Given the description of an element on the screen output the (x, y) to click on. 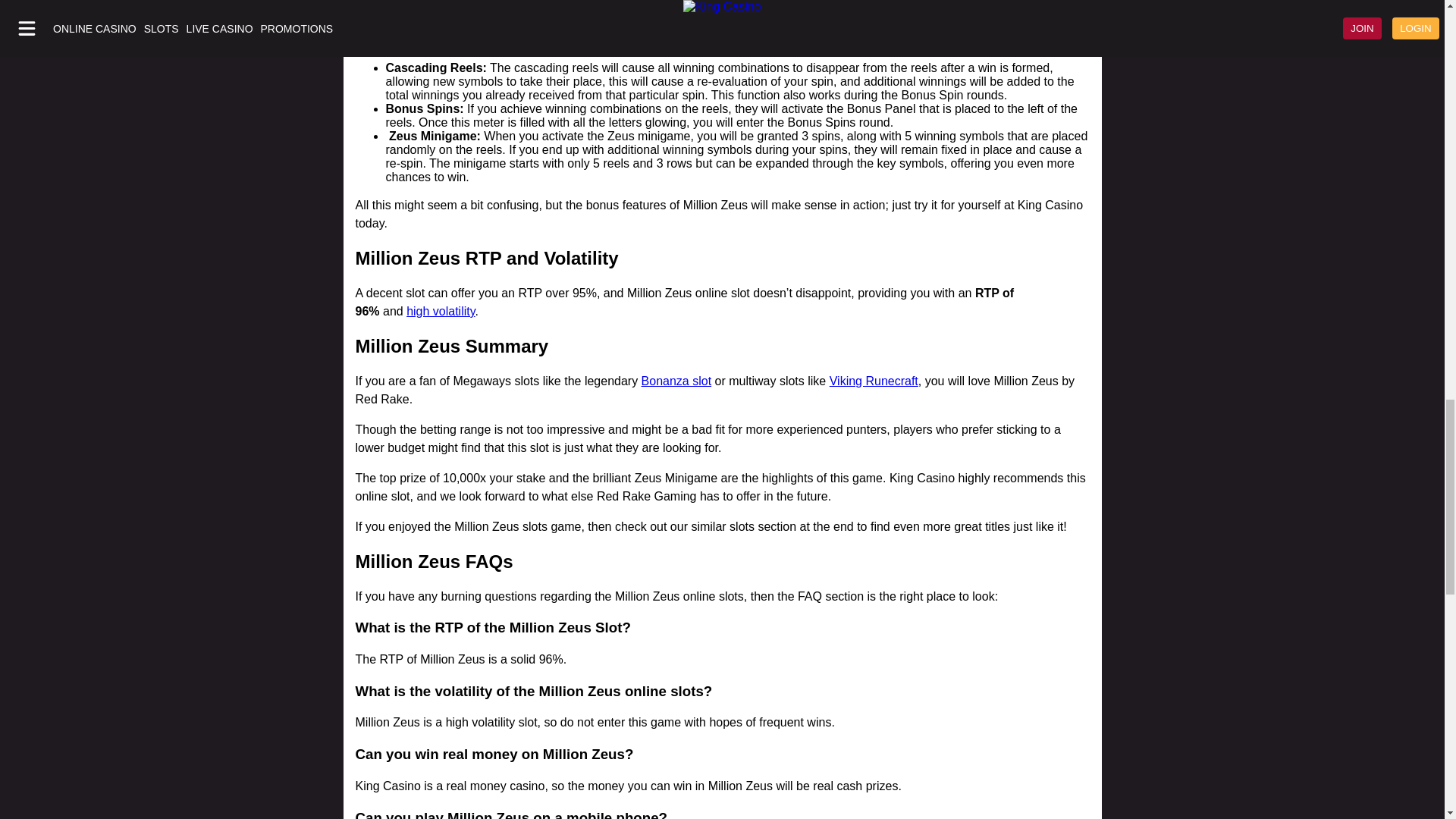
high volatility (440, 310)
Viking Runecraft (873, 380)
Bonanza slot (676, 380)
